Given the description of an element on the screen output the (x, y) to click on. 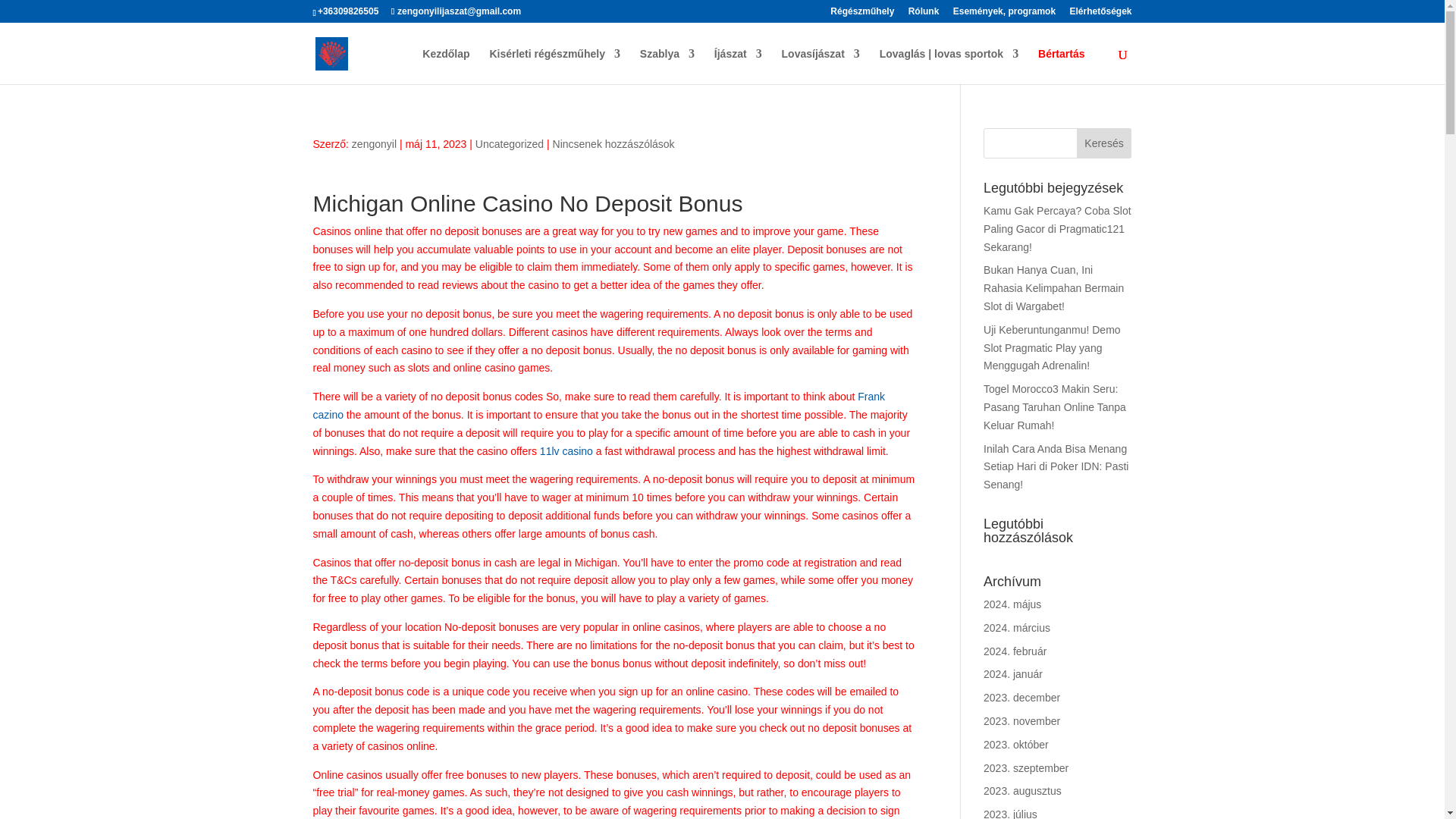
Szablya (667, 66)
